Given the description of an element on the screen output the (x, y) to click on. 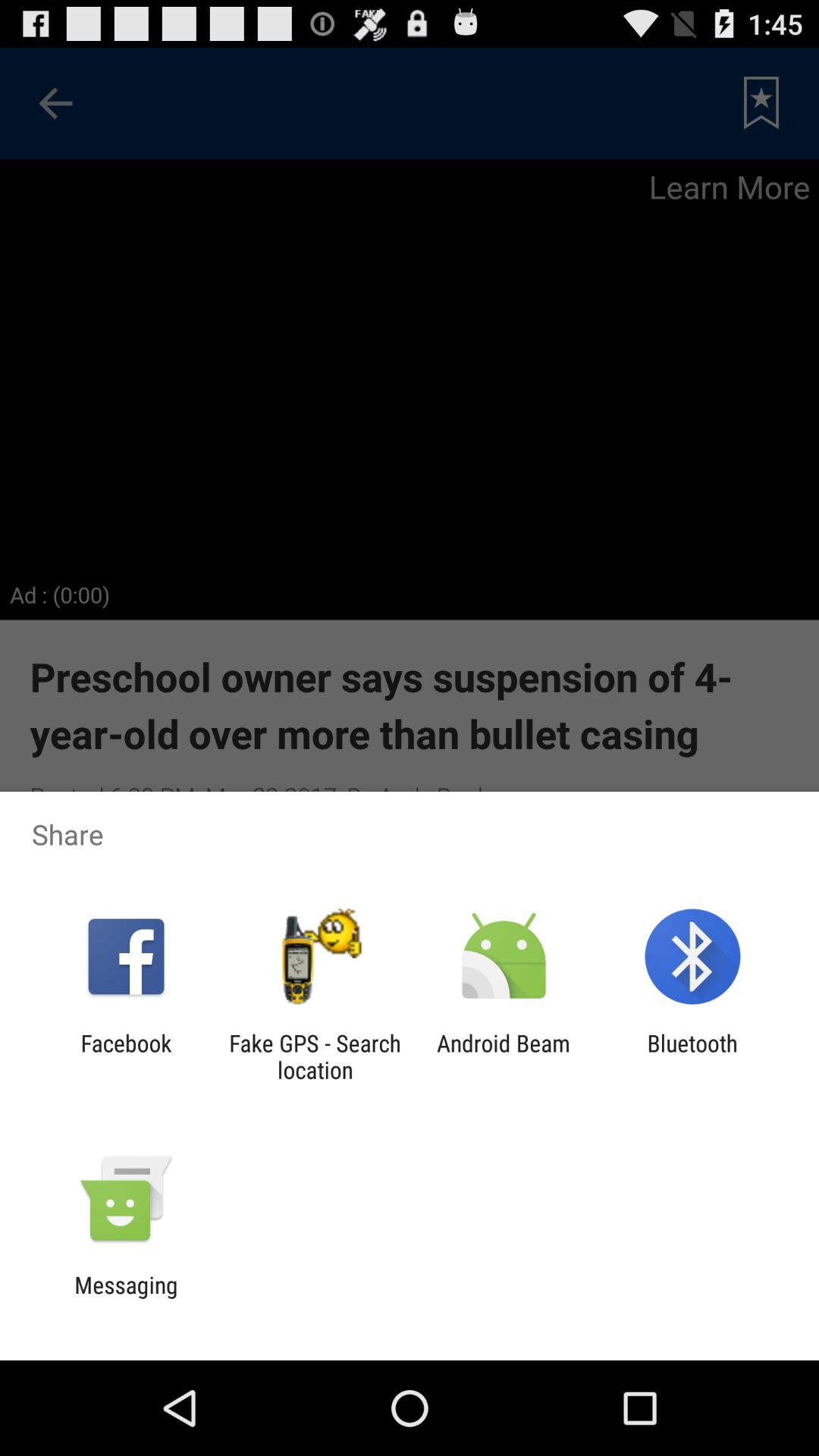
swipe until fake gps search app (314, 1056)
